Given the description of an element on the screen output the (x, y) to click on. 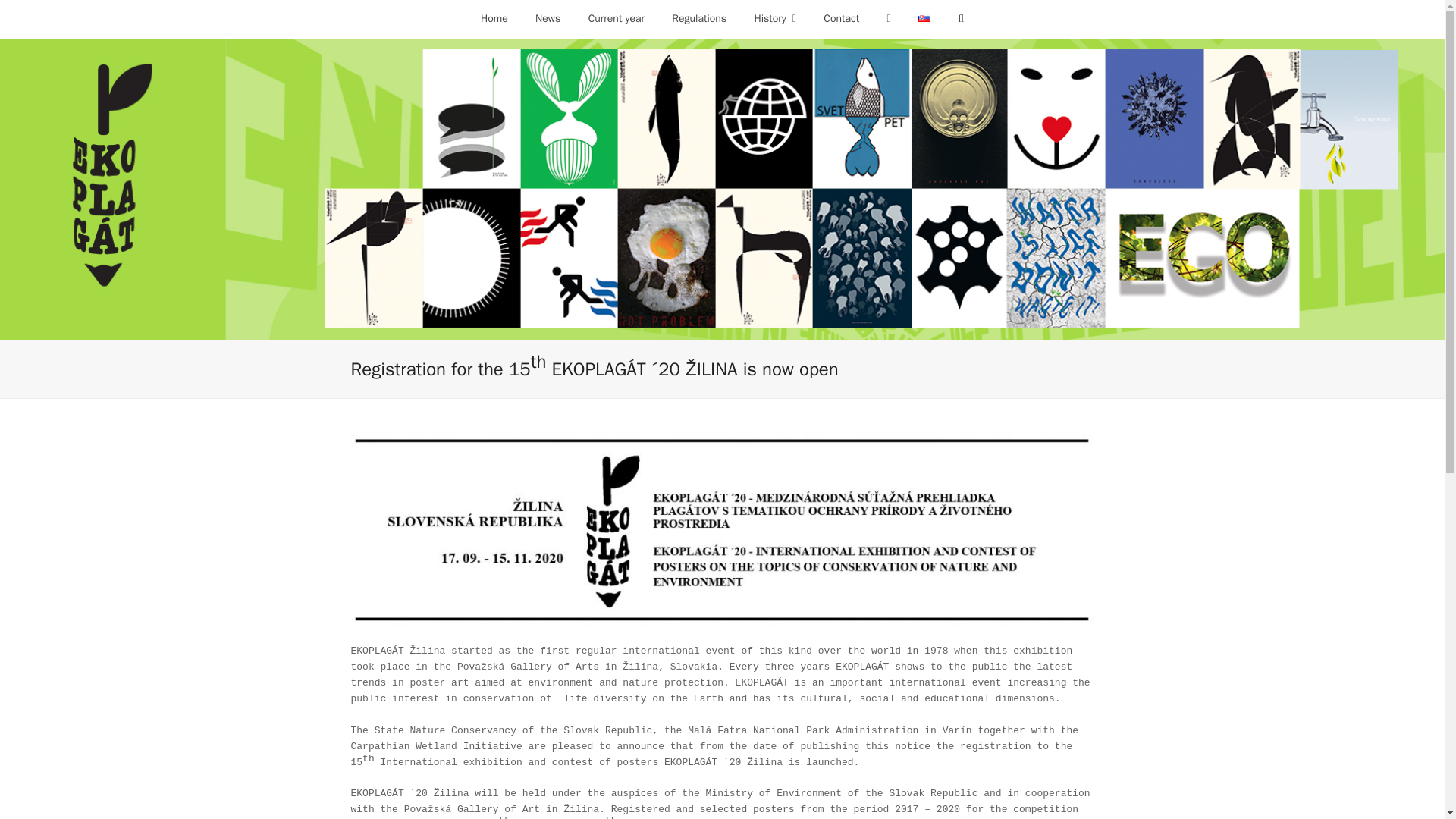
News (547, 18)
Regulations (698, 18)
Home (493, 18)
Contact (840, 18)
History (774, 18)
Current year (615, 18)
